Given the description of an element on the screen output the (x, y) to click on. 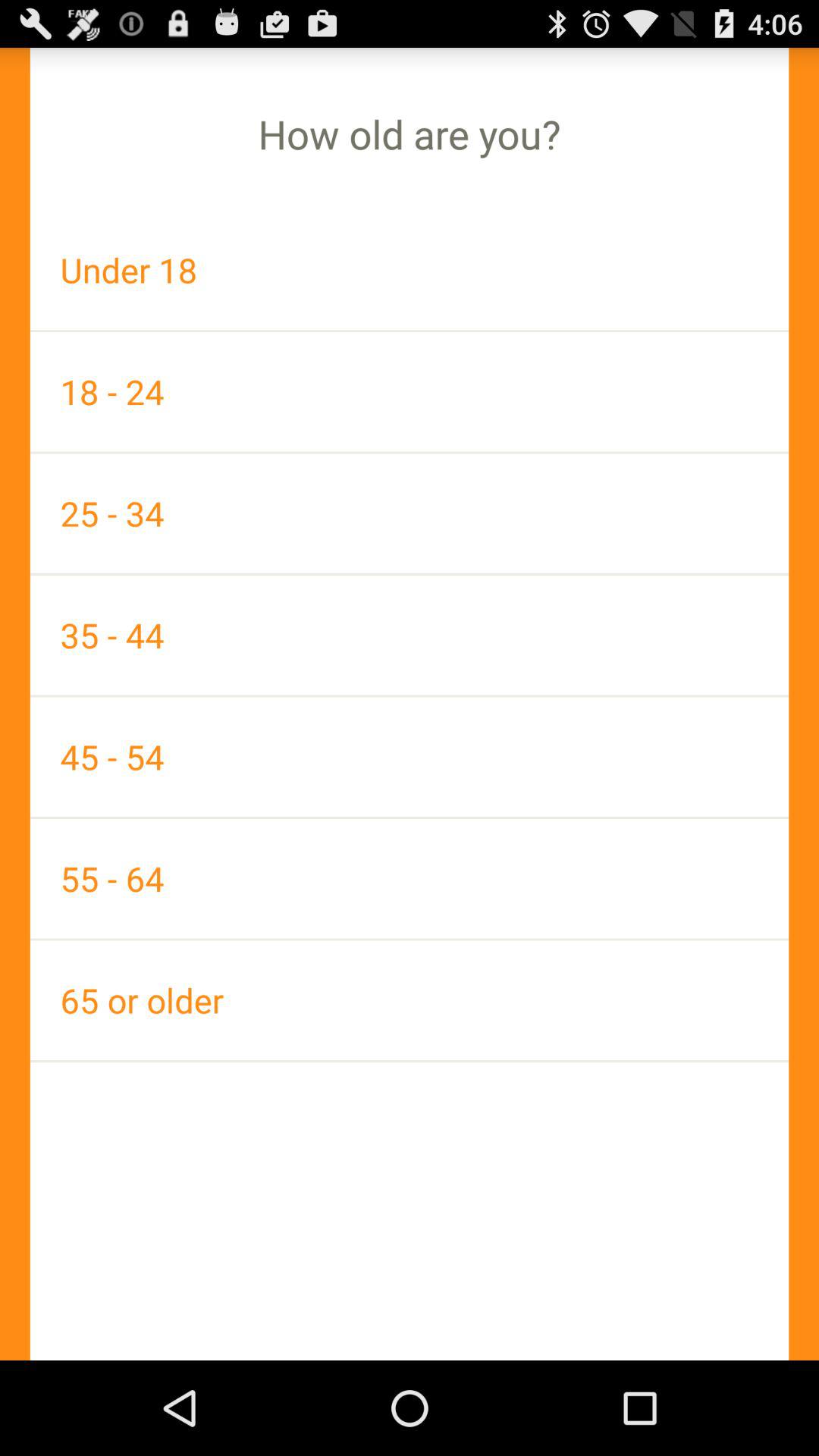
turn on app above the 45 - 54 icon (409, 635)
